Given the description of an element on the screen output the (x, y) to click on. 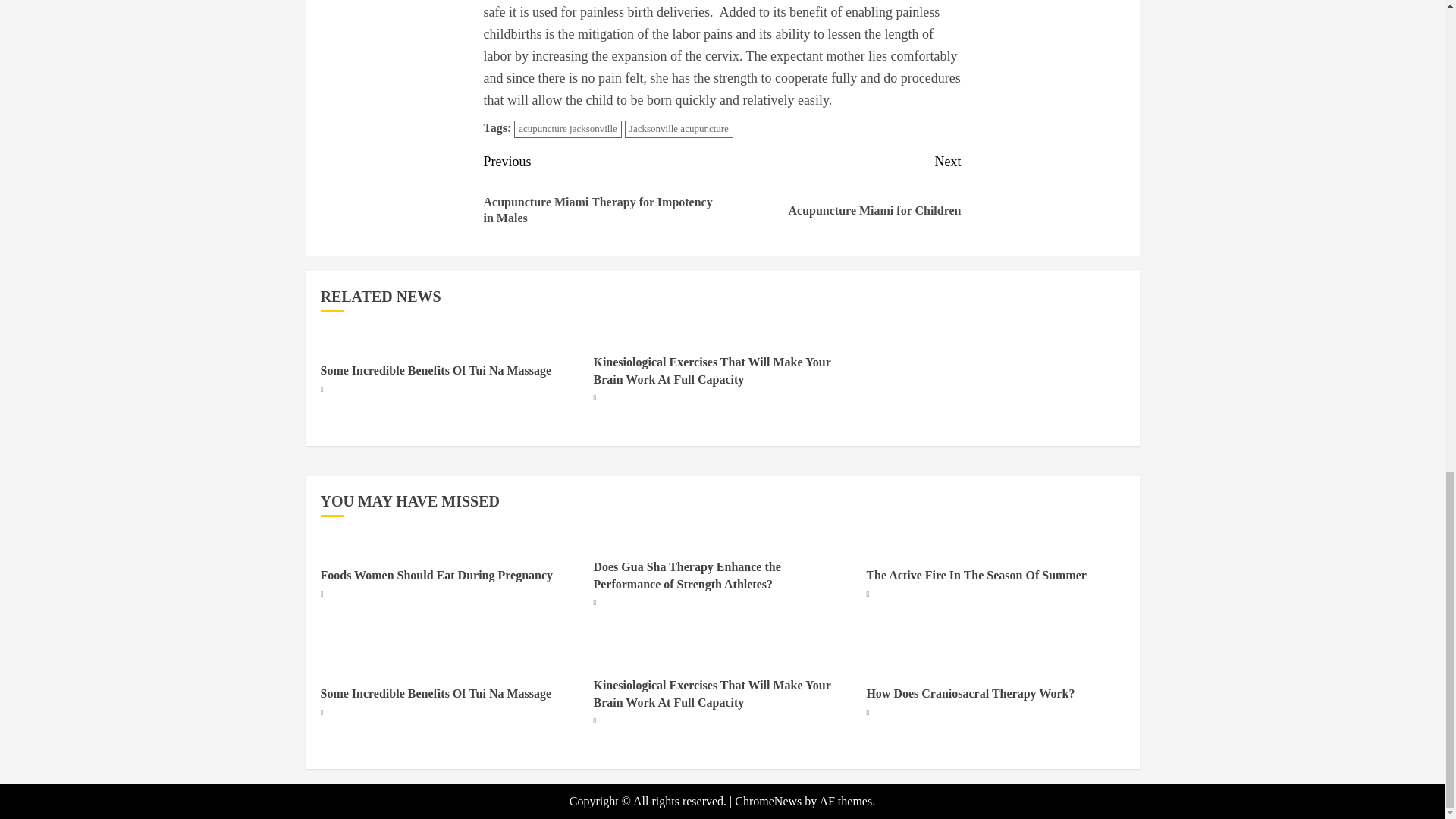
Some Incredible Benefits Of Tui Na Massage (435, 694)
Some Incredible Benefits Of Tui Na Massage (435, 370)
acupuncture jacksonville (567, 129)
Jacksonville acupuncture (841, 195)
The Active Fire In The Season Of Summer (678, 129)
Foods Women Should Eat During Pregnancy (976, 575)
